Given the description of an element on the screen output the (x, y) to click on. 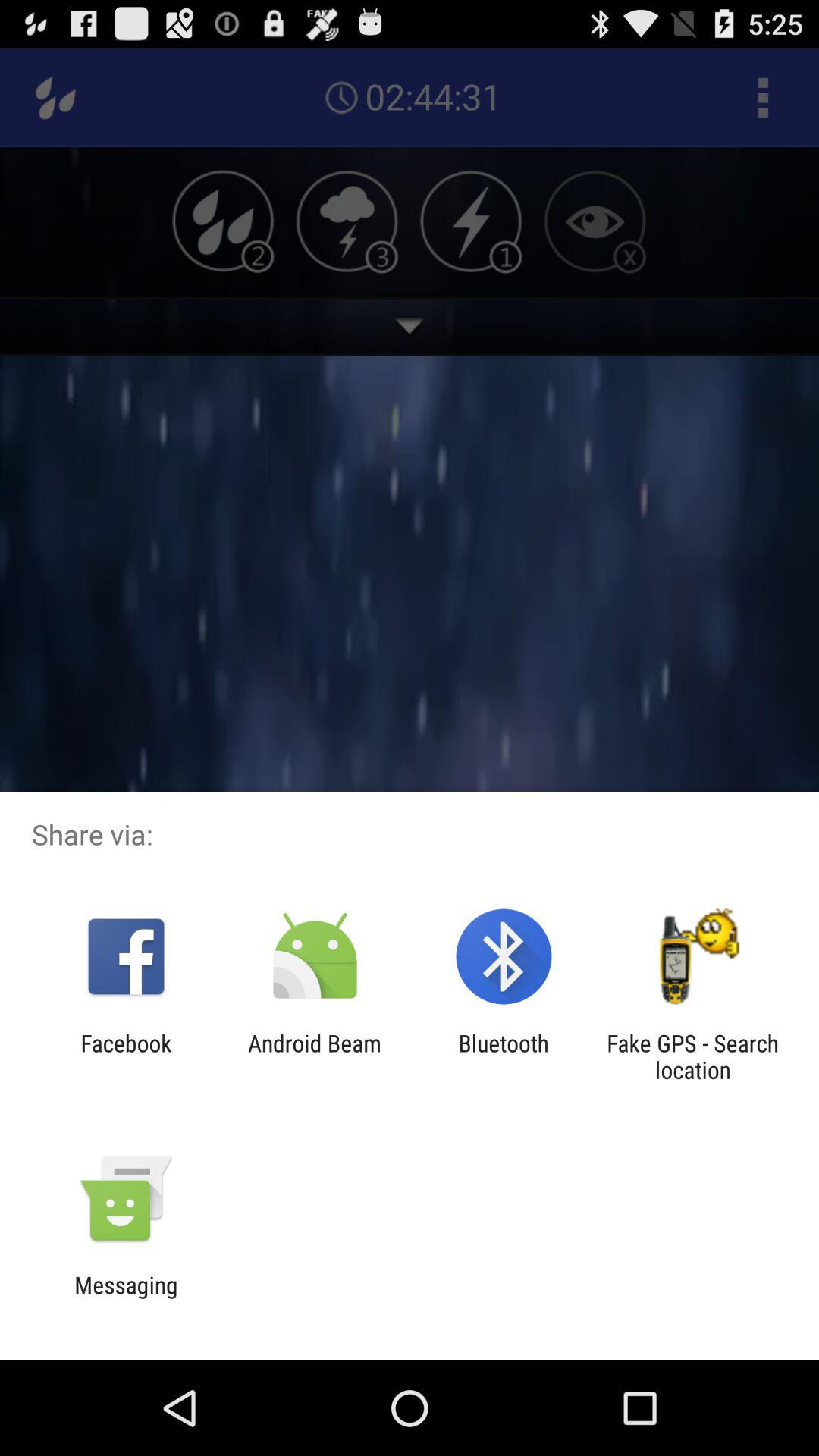
launch fake gps search item (692, 1056)
